Given the description of an element on the screen output the (x, y) to click on. 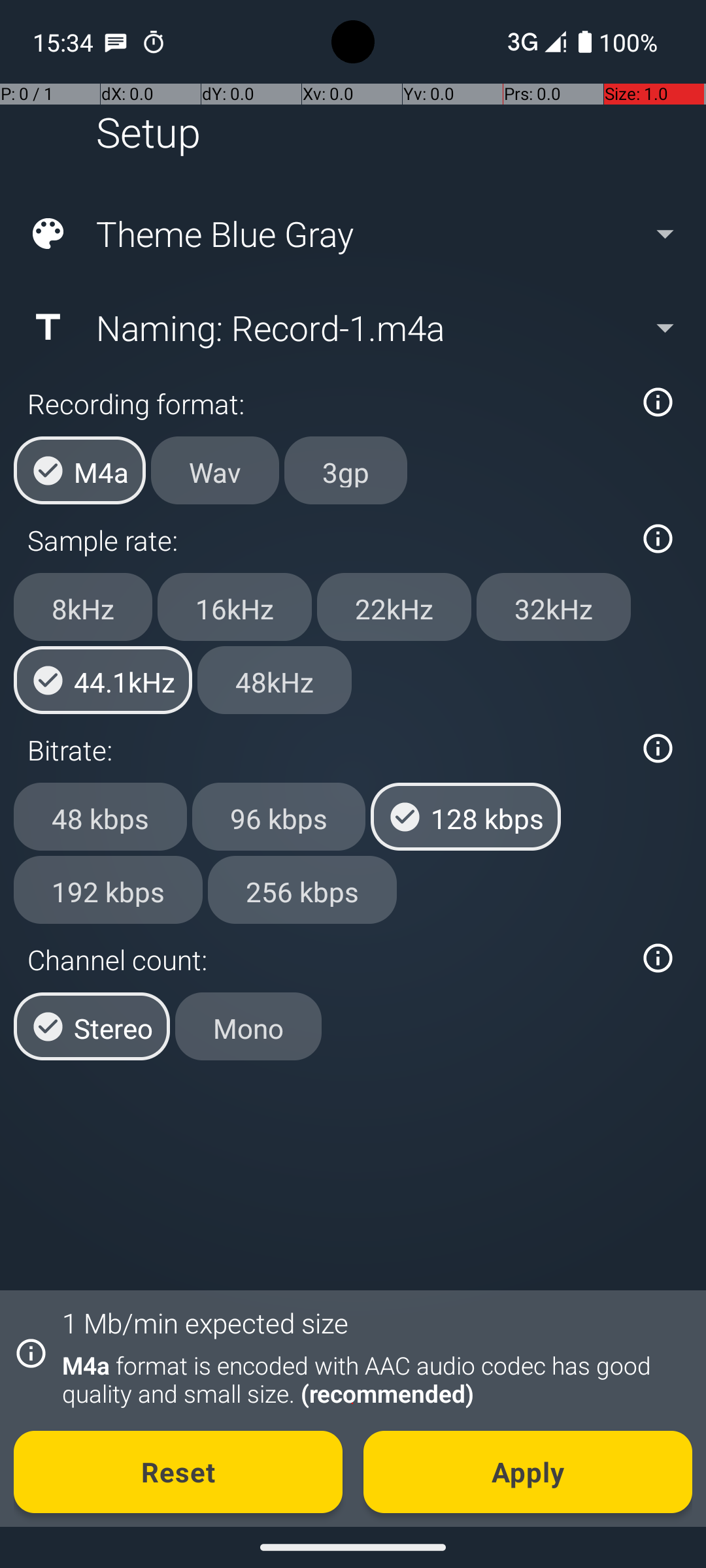
1 Mb/min expected size Element type: android.widget.TextView (205, 1322)
M4a format is encoded with AAC audio codec has good quality and small size. (recommended) Element type: android.widget.TextView (370, 1378)
Reset Element type: android.widget.Button (177, 1471)
Apply Element type: android.widget.Button (527, 1471)
Setup Element type: android.widget.TextView (148, 131)
Recording format: Element type: android.widget.TextView (325, 403)
M4a Element type: android.widget.TextView (79, 470)
Wav Element type: android.widget.TextView (215, 470)
3gp Element type: android.widget.TextView (345, 470)
Sample rate: Element type: android.widget.TextView (325, 539)
44.1kHz Element type: android.widget.TextView (102, 680)
16kHz Element type: android.widget.TextView (234, 606)
22kHz Element type: android.widget.TextView (394, 606)
32kHz Element type: android.widget.TextView (553, 606)
48kHz Element type: android.widget.TextView (274, 680)
8kHz Element type: android.widget.TextView (82, 606)
Bitrate: Element type: android.widget.TextView (325, 749)
128 kbps Element type: android.widget.TextView (465, 816)
192 kbps Element type: android.widget.TextView (107, 889)
256 kbps Element type: android.widget.TextView (301, 889)
48 kbps Element type: android.widget.TextView (99, 816)
96 kbps Element type: android.widget.TextView (278, 816)
Channel count: Element type: android.widget.TextView (325, 959)
Stereo Element type: android.widget.TextView (91, 1026)
Mono Element type: android.widget.TextView (248, 1026)
Theme Blue Gray Element type: android.widget.TextView (352, 233)
Naming: Record-1.m4a Element type: android.widget.TextView (352, 327)
15:34 Element type: android.widget.TextView (64, 41)
SMS Messenger notification: Matteo Ibrahim Element type: android.widget.ImageView (115, 41)
Clock notification:  Element type: android.widget.ImageView (153, 41)
Phone signal full. Element type: android.widget.FrameLayout (534, 41)
Battery 100 percent. Element type: android.widget.LinearLayout (617, 41)
No internet Element type: android.widget.ImageView (521, 41)
